Given the description of an element on the screen output the (x, y) to click on. 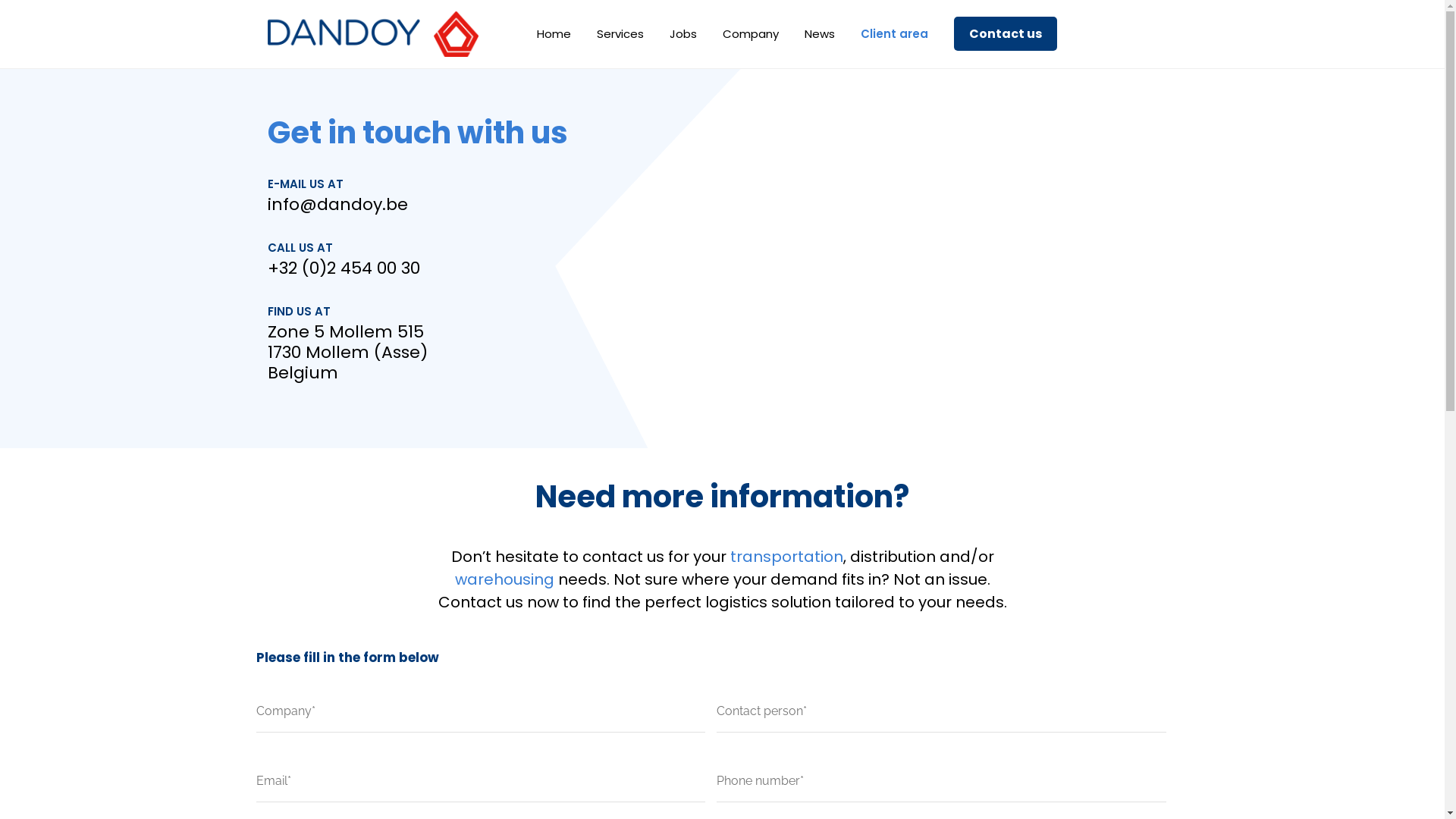
Company Element type: text (750, 34)
Contact us Element type: text (1004, 34)
News Element type: text (819, 34)
transportation Element type: text (785, 556)
Home Element type: text (553, 34)
Services Element type: text (619, 34)
warehousing Element type: text (504, 578)
Client area Element type: text (894, 34)
Jobs Element type: text (682, 34)
